Given the description of an element on the screen output the (x, y) to click on. 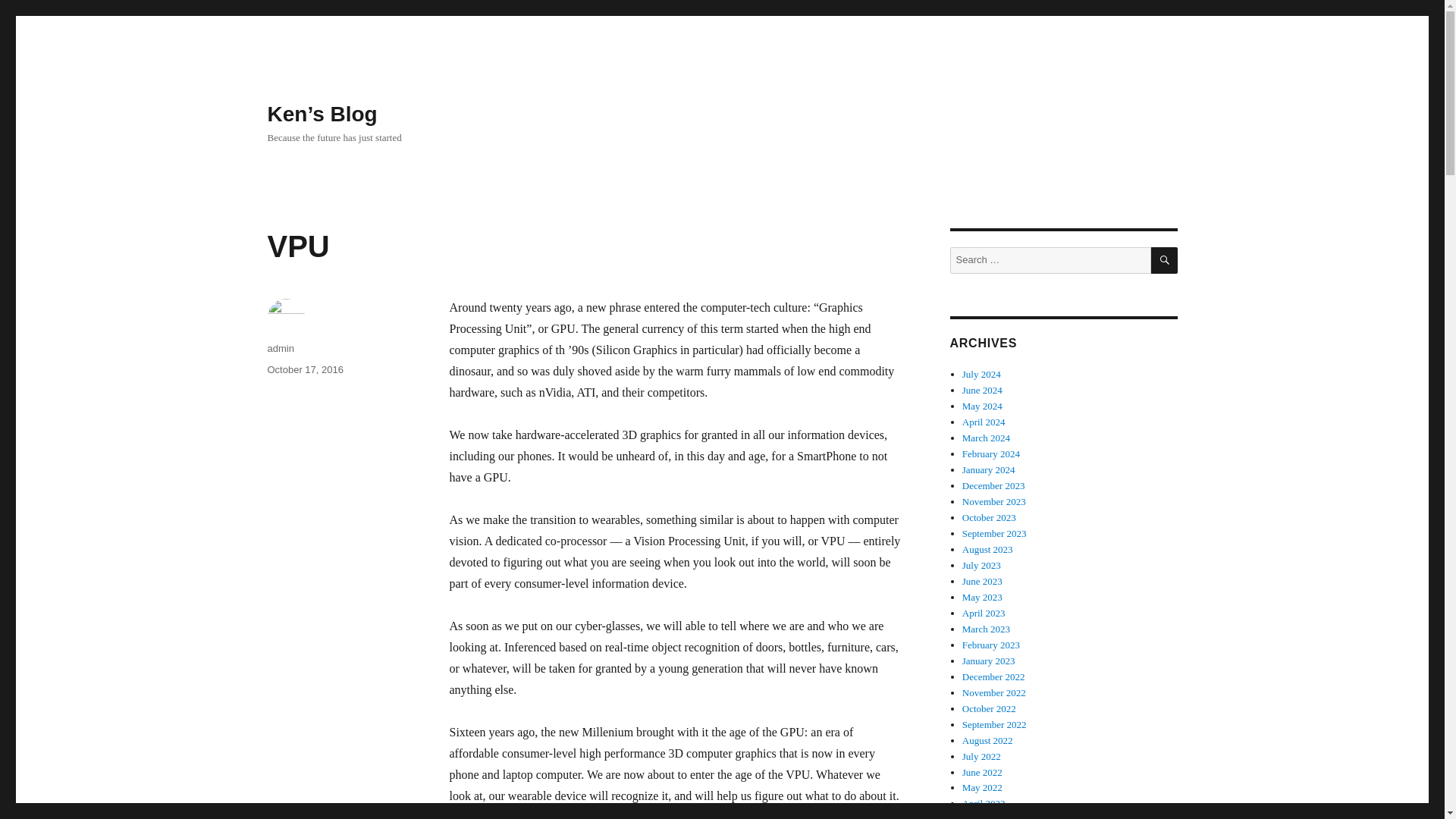
August 2023 (987, 549)
July 2022 (981, 756)
January 2024 (988, 469)
February 2023 (991, 644)
February 2024 (991, 453)
October 2023 (989, 517)
October 17, 2016 (304, 369)
March 2024 (986, 437)
July 2023 (981, 564)
March 2022 (986, 816)
November 2023 (994, 501)
April 2022 (984, 803)
March 2023 (986, 628)
November 2022 (994, 692)
May 2024 (982, 405)
